Given the description of an element on the screen output the (x, y) to click on. 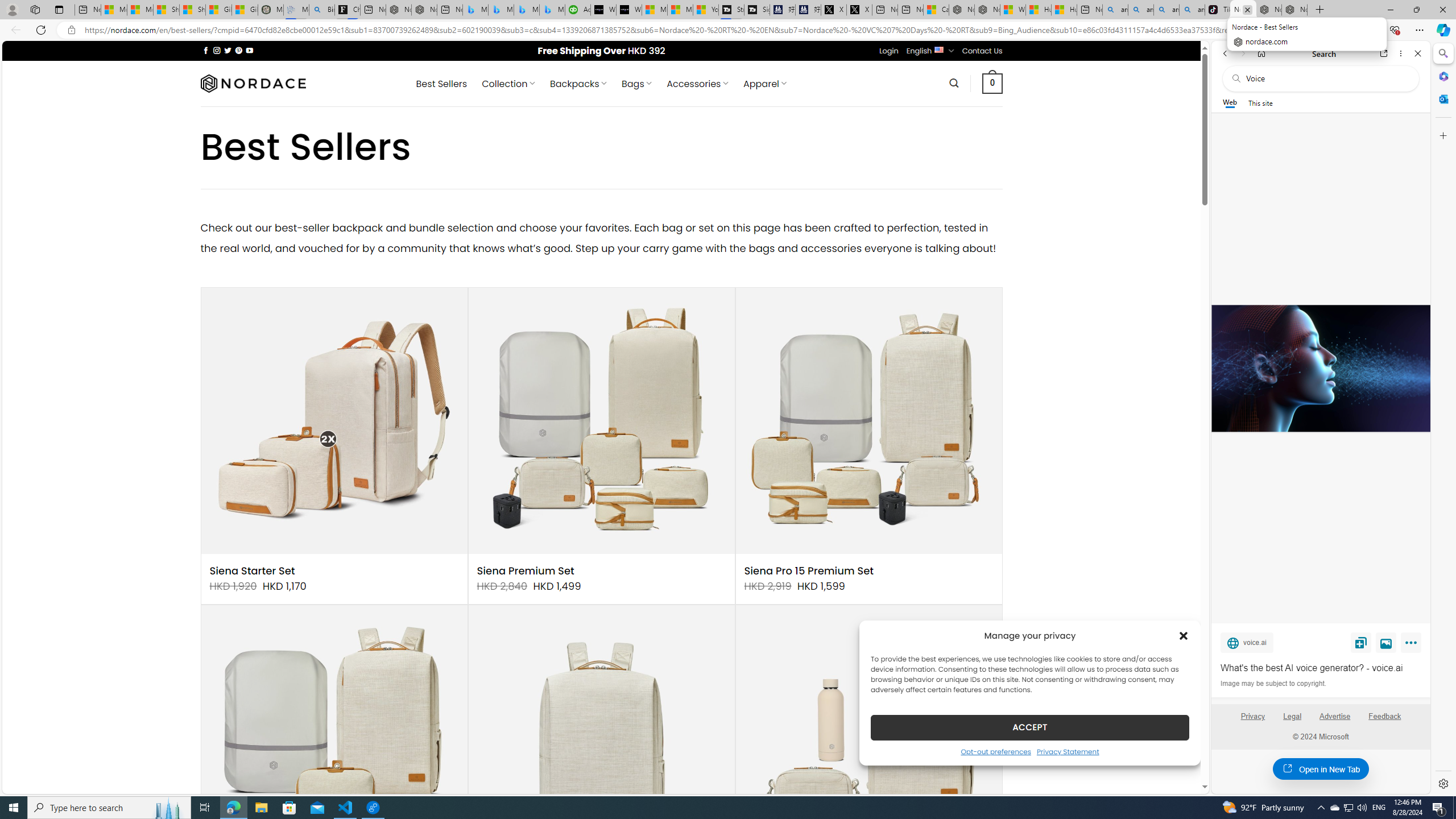
Microsoft Start (679, 9)
Microsoft 365 (1442, 76)
Streaming Coverage | T3 (730, 9)
What's the best AI voice generator? - voice.ai (1320, 368)
  0   (992, 83)
Search (954, 83)
  Best Sellers (441, 83)
What's the best AI voice generator? - voice.ai (1320, 667)
